Given the description of an element on the screen output the (x, y) to click on. 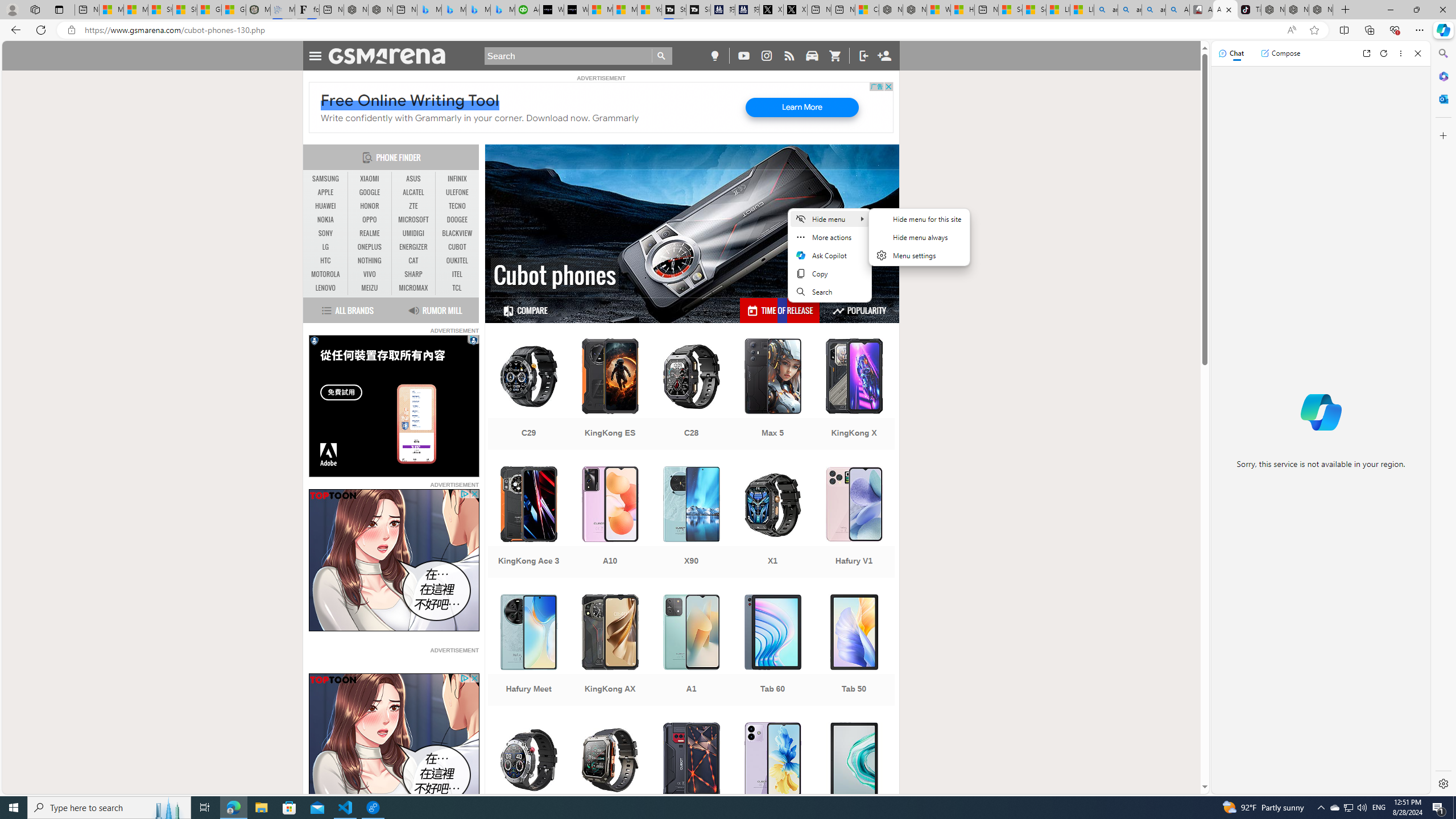
INFINIX (457, 178)
X (795, 9)
APPLE (325, 192)
SONY (325, 233)
X1 (772, 523)
SAMSUNG (325, 178)
Menu settings (919, 255)
ITEL (457, 273)
SHARP (413, 273)
HTC (325, 260)
